Given the description of an element on the screen output the (x, y) to click on. 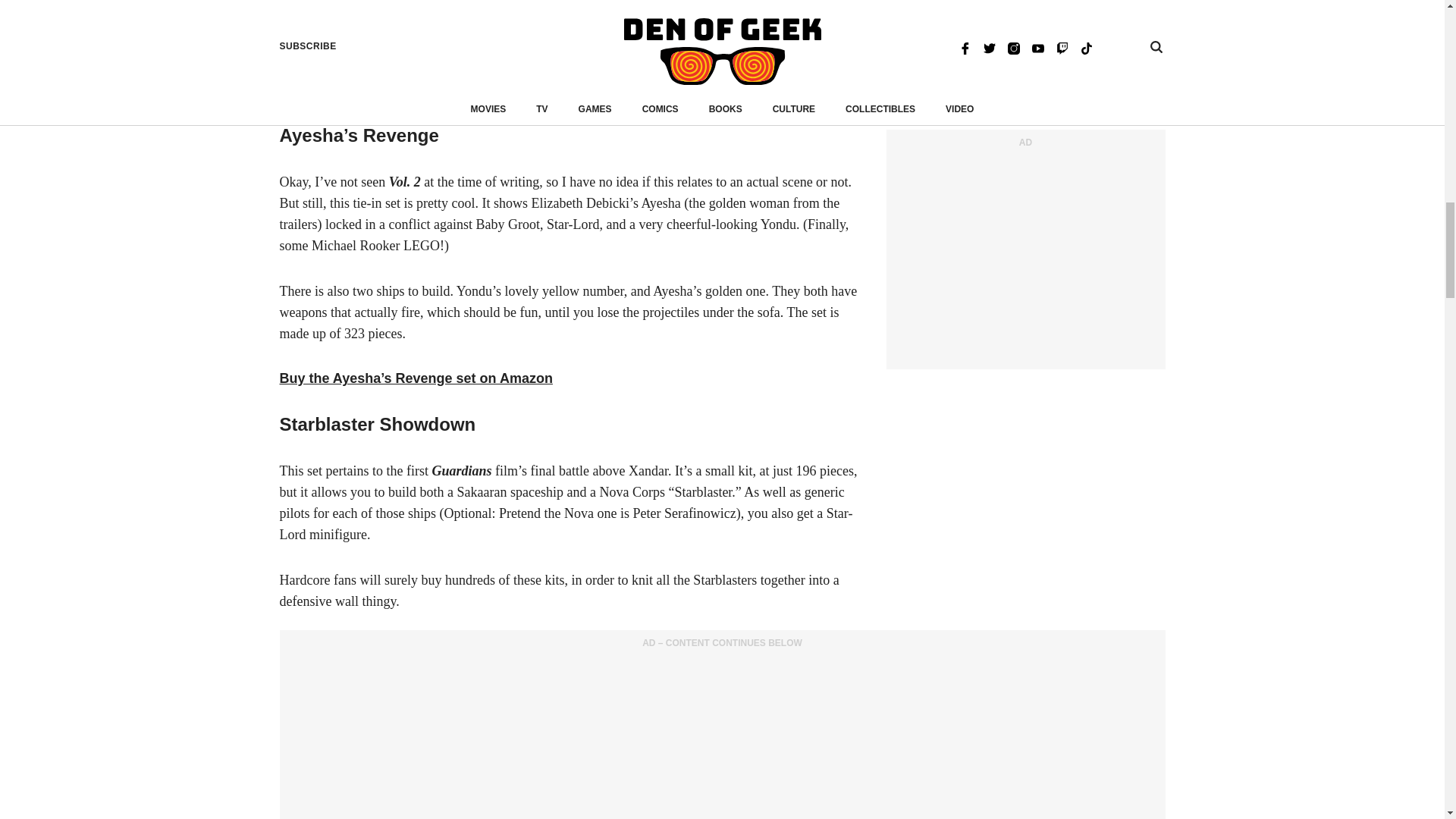
Buy the Knowhere Escape Mission set on Amazon (442, 89)
